Given the description of an element on the screen output the (x, y) to click on. 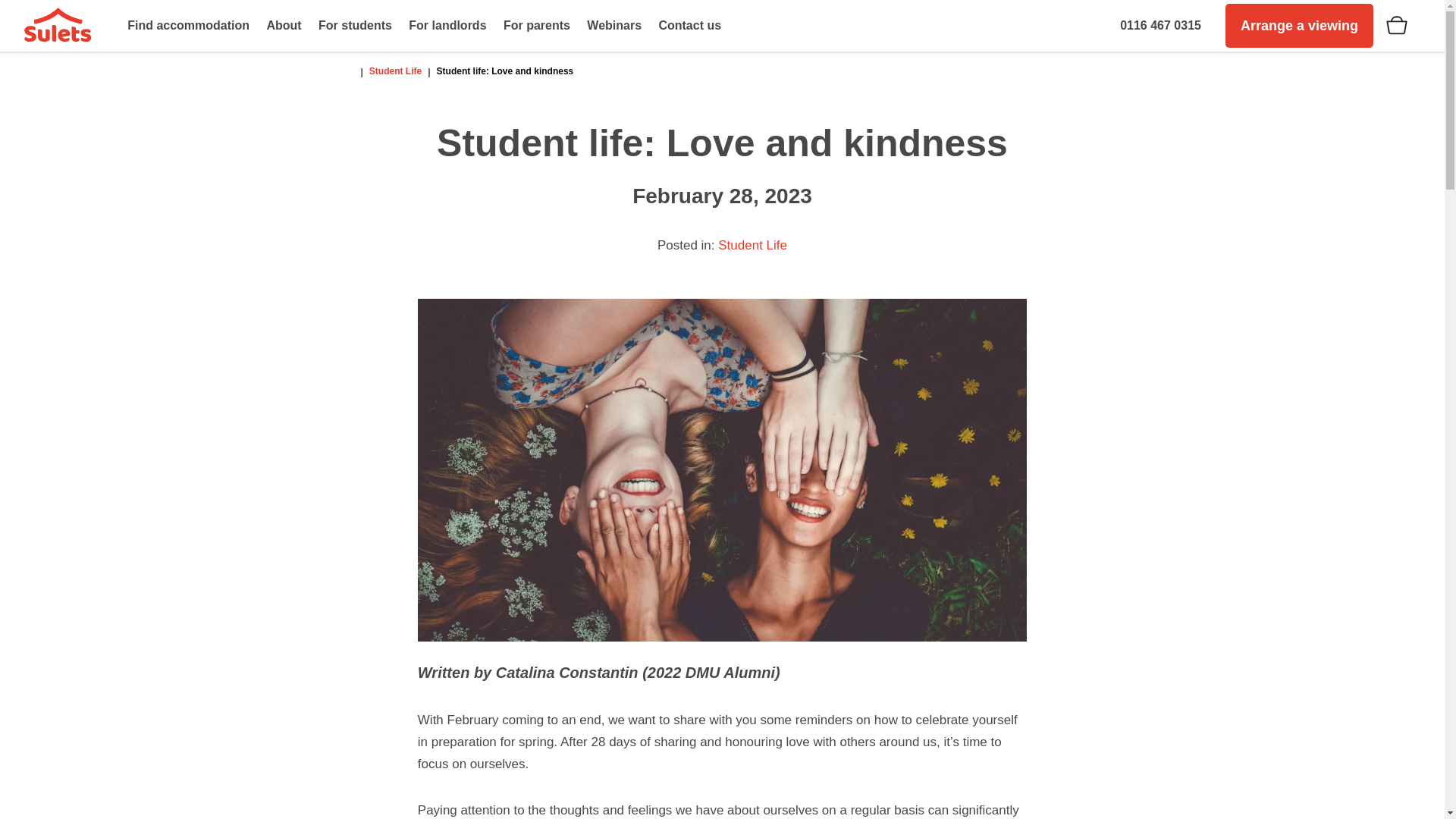
Webinars (613, 25)
For parents (536, 25)
Arrange a viewing (1299, 25)
For students (355, 25)
Find accommodation (188, 25)
For landlords (447, 25)
About (283, 25)
0116 467 0315 (1160, 25)
Go to the Student Life category archives. (395, 71)
Contact us (689, 25)
